Given the description of an element on the screen output the (x, y) to click on. 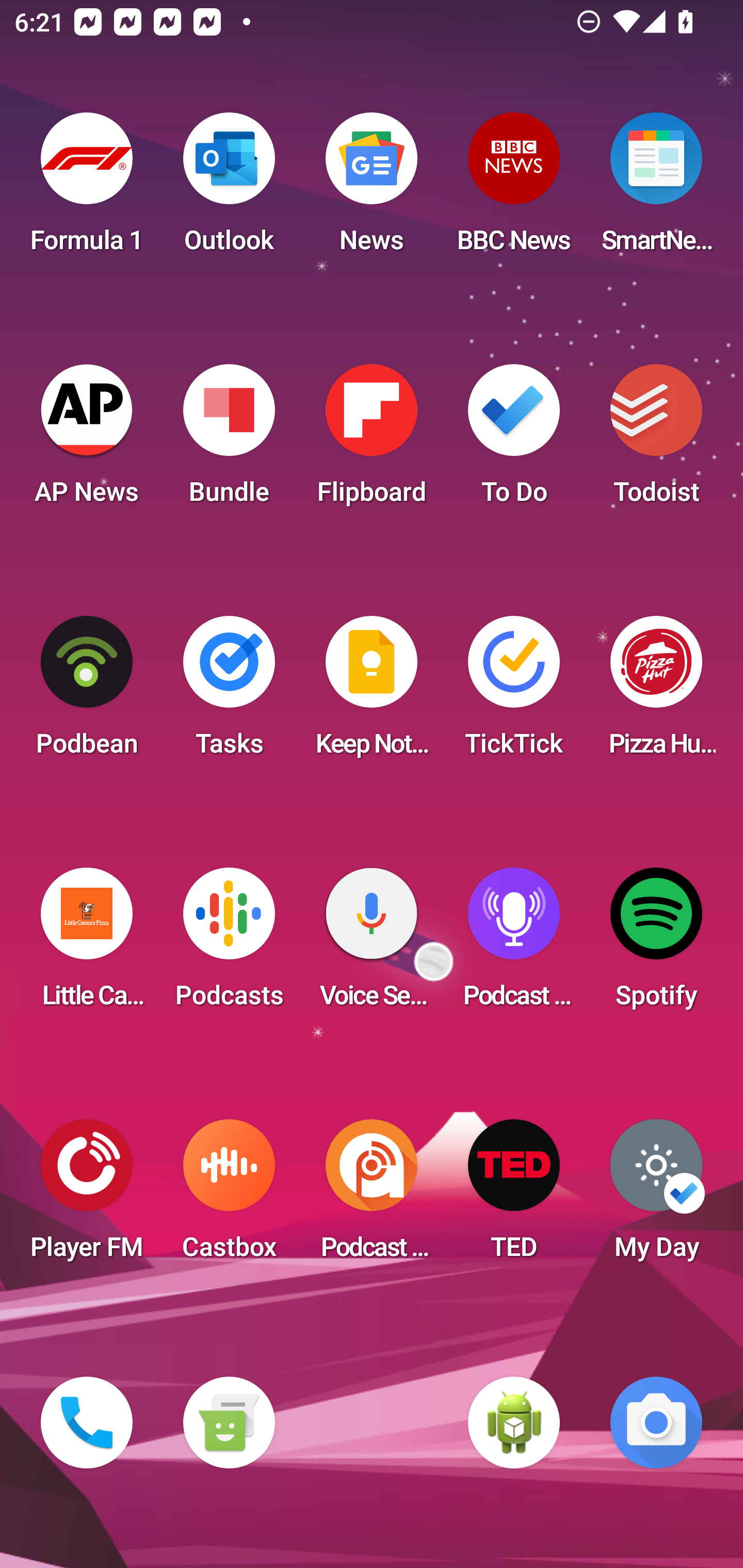
Formula 1 (86, 188)
Outlook (228, 188)
News (371, 188)
BBC News (513, 188)
SmartNews (656, 188)
AP News (86, 440)
Bundle (228, 440)
Flipboard (371, 440)
To Do (513, 440)
Todoist (656, 440)
Podbean (86, 692)
Tasks (228, 692)
Keep Notes (371, 692)
TickTick (513, 692)
Pizza Hut HK & Macau (656, 692)
Little Caesars Pizza (86, 943)
Podcasts (228, 943)
Voice Search (371, 943)
Podcast Player (513, 943)
Spotify (656, 943)
Player FM (86, 1195)
Castbox (228, 1195)
Podcast Addict (371, 1195)
TED (513, 1195)
My Day (656, 1195)
Phone (86, 1422)
Messaging (228, 1422)
WebView Browser Tester (513, 1422)
Camera (656, 1422)
